Given the description of an element on the screen output the (x, y) to click on. 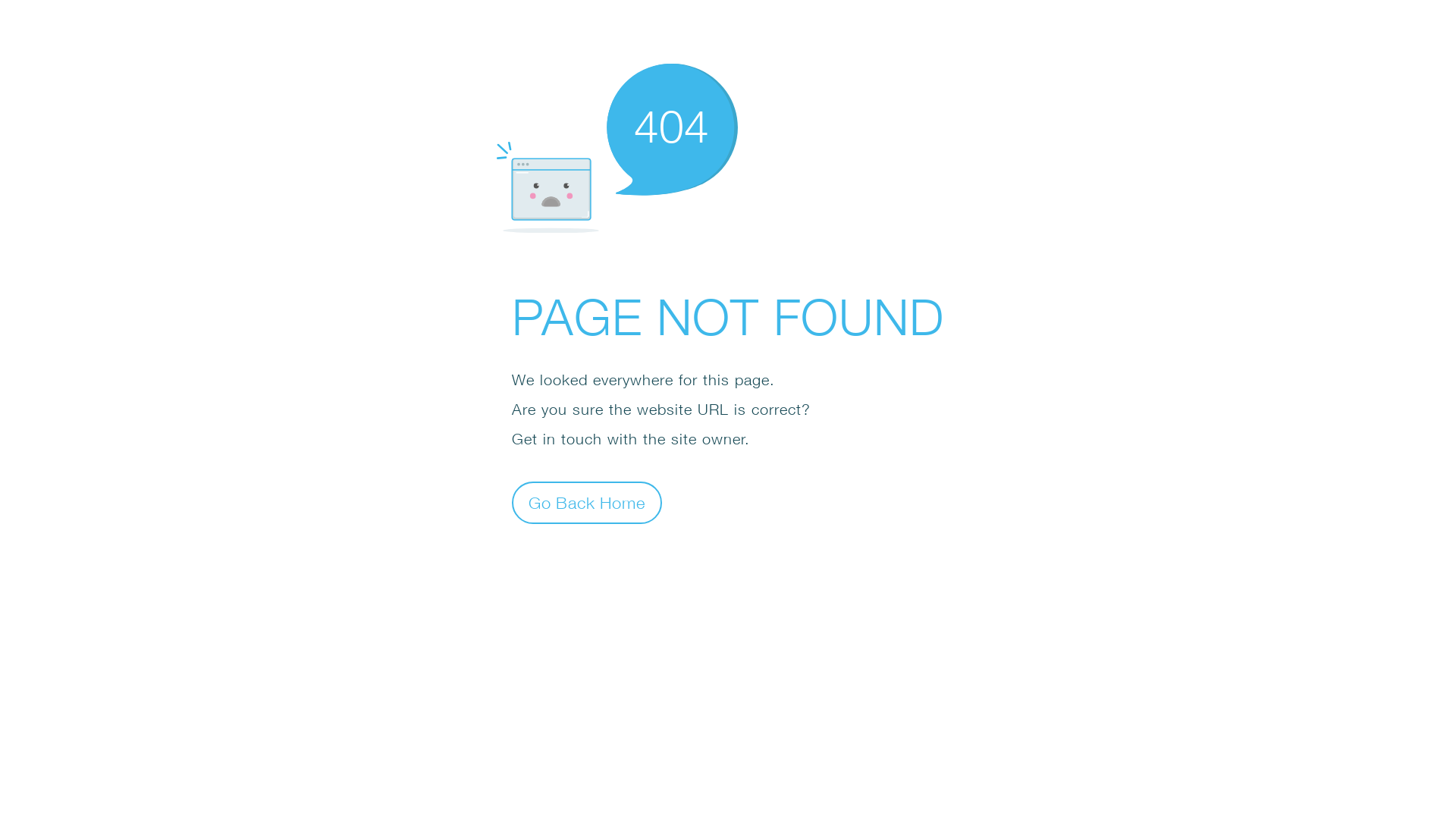
Go Back Home Element type: text (586, 502)
